Given the description of an element on the screen output the (x, y) to click on. 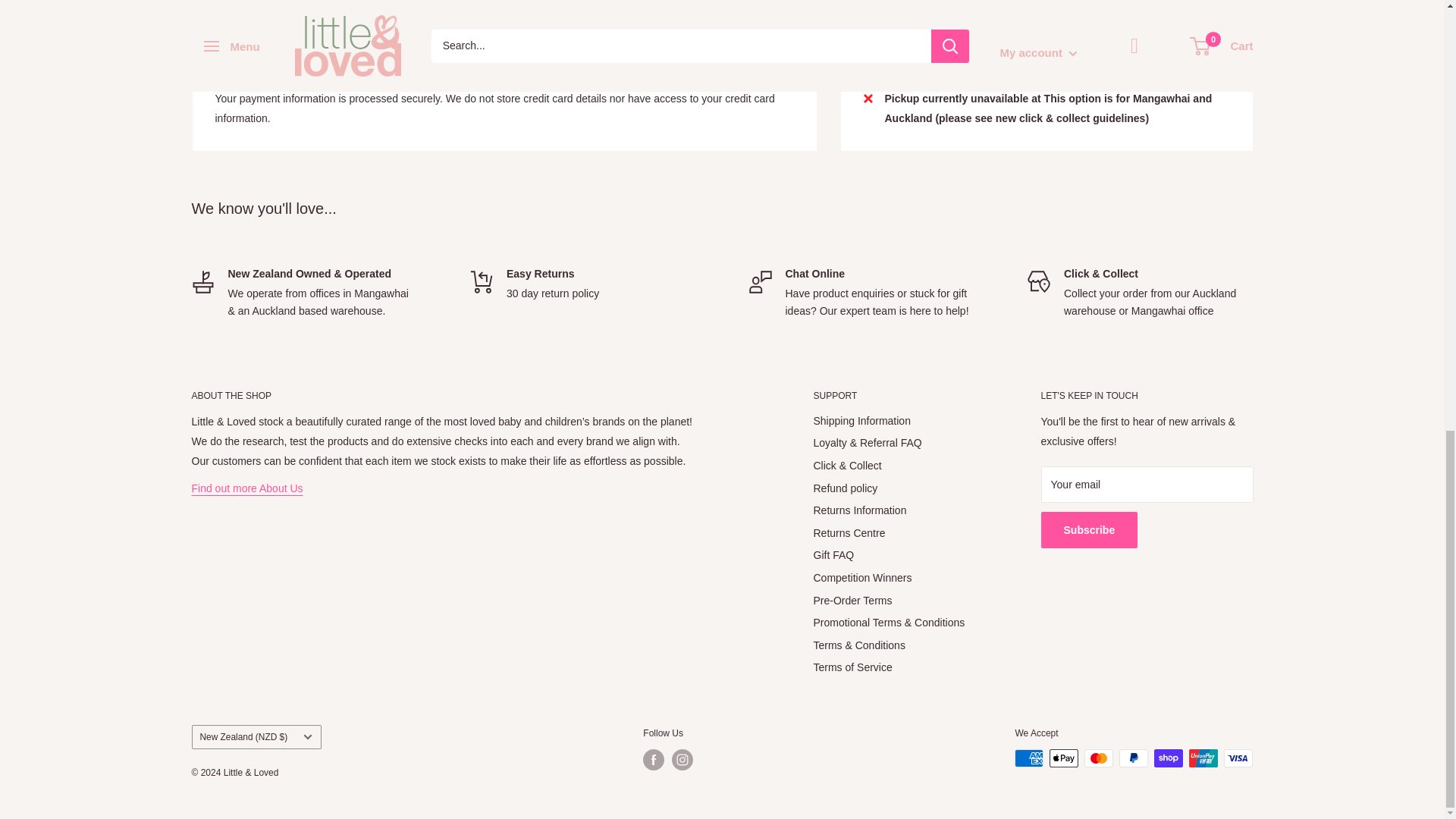
About Us (246, 488)
